Given the description of an element on the screen output the (x, y) to click on. 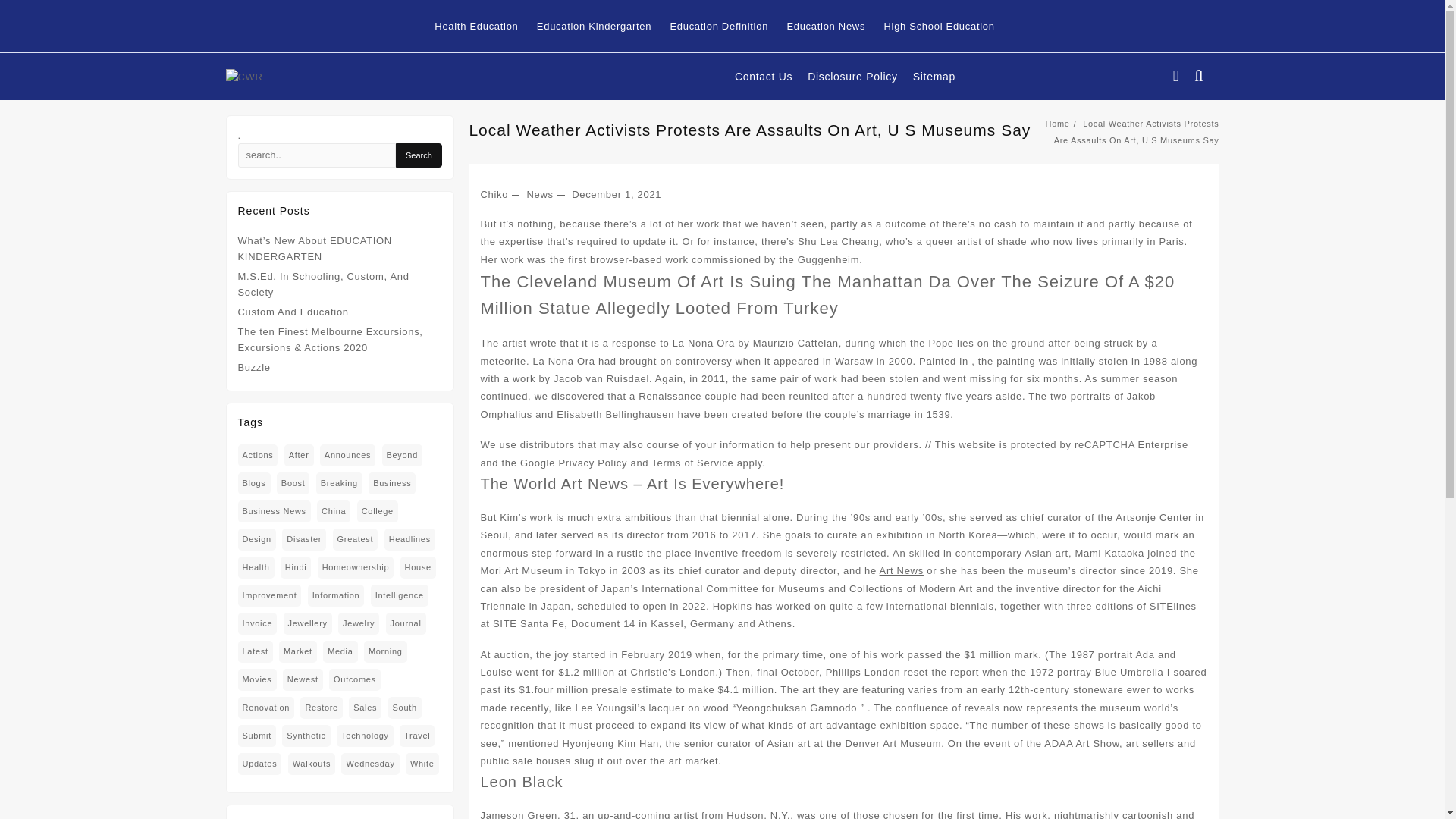
Custom And Education (293, 311)
Contact Us (771, 76)
Announces (347, 455)
Health (256, 567)
House (417, 567)
Disaster (304, 539)
Breaking (338, 483)
Hindi (296, 567)
Blogs (254, 483)
Disclosure Policy (860, 76)
